Given the description of an element on the screen output the (x, y) to click on. 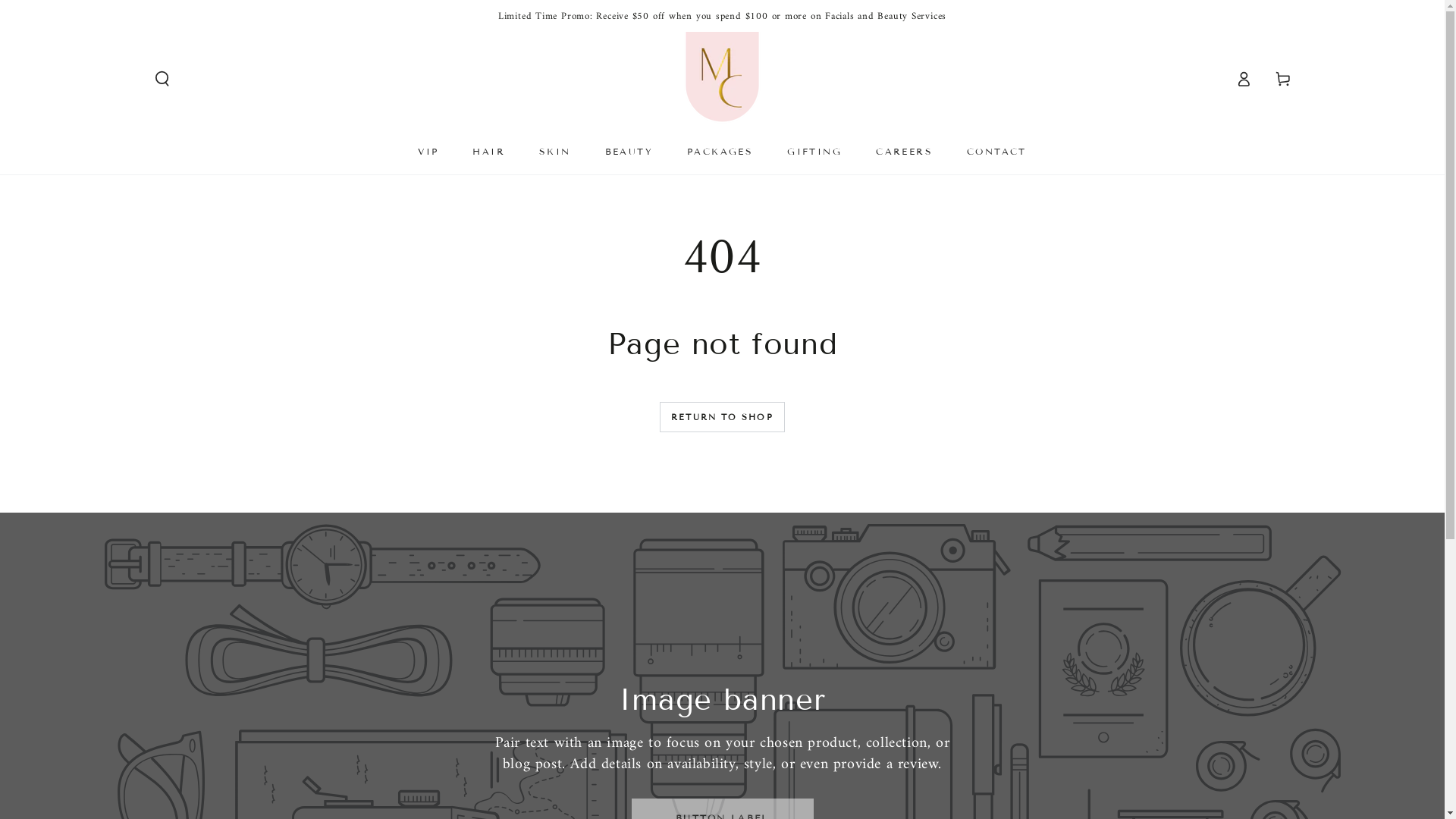
CONTACT Element type: text (996, 150)
RETURN TO SHOP Element type: text (721, 416)
HAIR Element type: text (488, 150)
Log in Element type: text (1243, 78)
SKIN Element type: text (554, 150)
VIP Element type: text (427, 150)
CAREERS Element type: text (904, 150)
BEAUTY Element type: text (628, 150)
PACKAGES Element type: text (719, 150)
GIFTING Element type: text (814, 150)
